Given the description of an element on the screen output the (x, y) to click on. 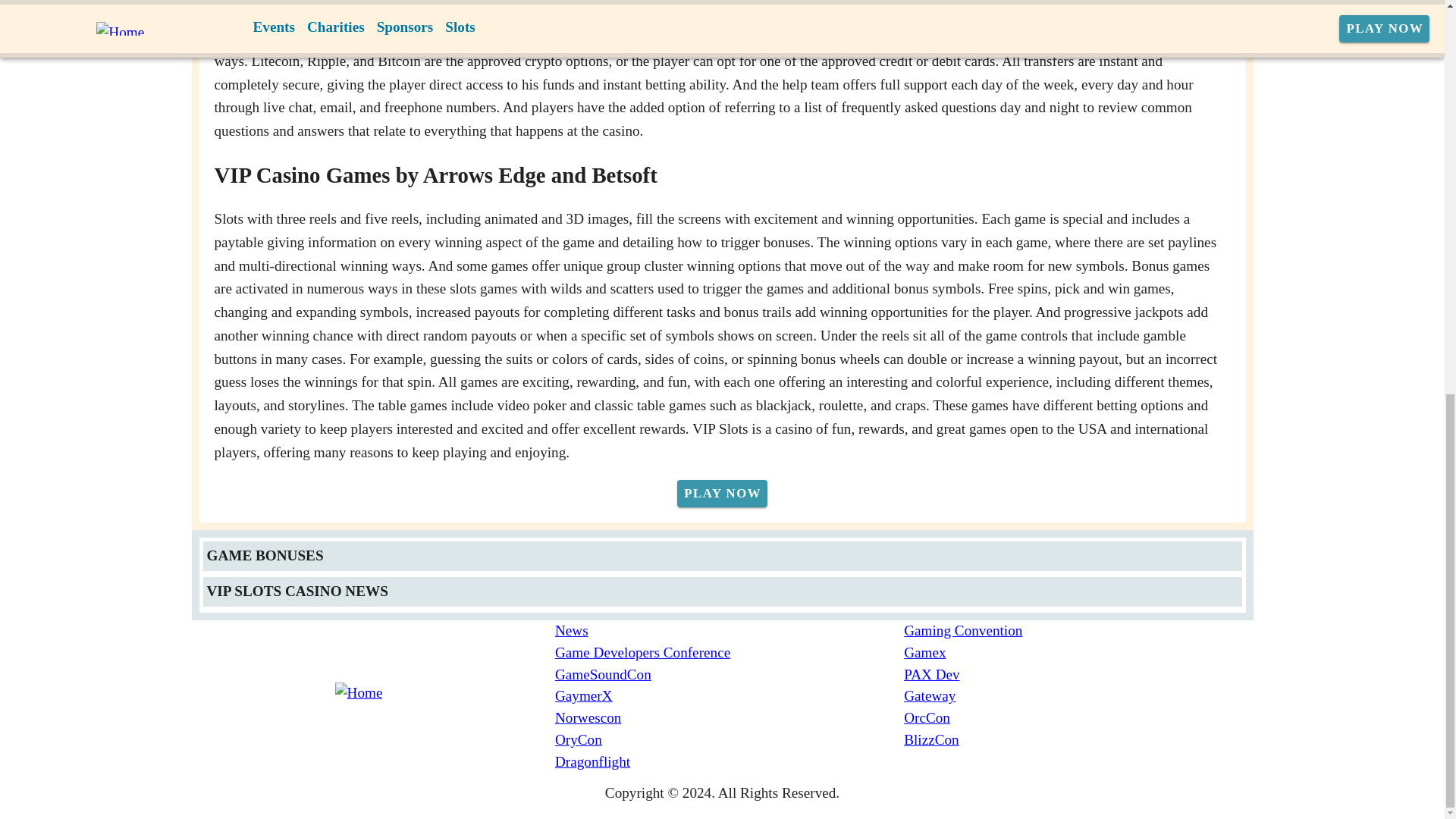
Norwescon (729, 718)
News (729, 630)
PLAY NOW (722, 492)
Game Developers Conference (729, 653)
PAX Dev (1078, 675)
GameSoundCon (729, 675)
Gateway (1078, 696)
OryCon (729, 740)
Gaming Convention (1078, 630)
OrcCon (1078, 718)
Gamex (1078, 653)
GaymerX (729, 696)
Dragonflight (729, 762)
BlizzCon (1078, 740)
